Given the description of an element on the screen output the (x, y) to click on. 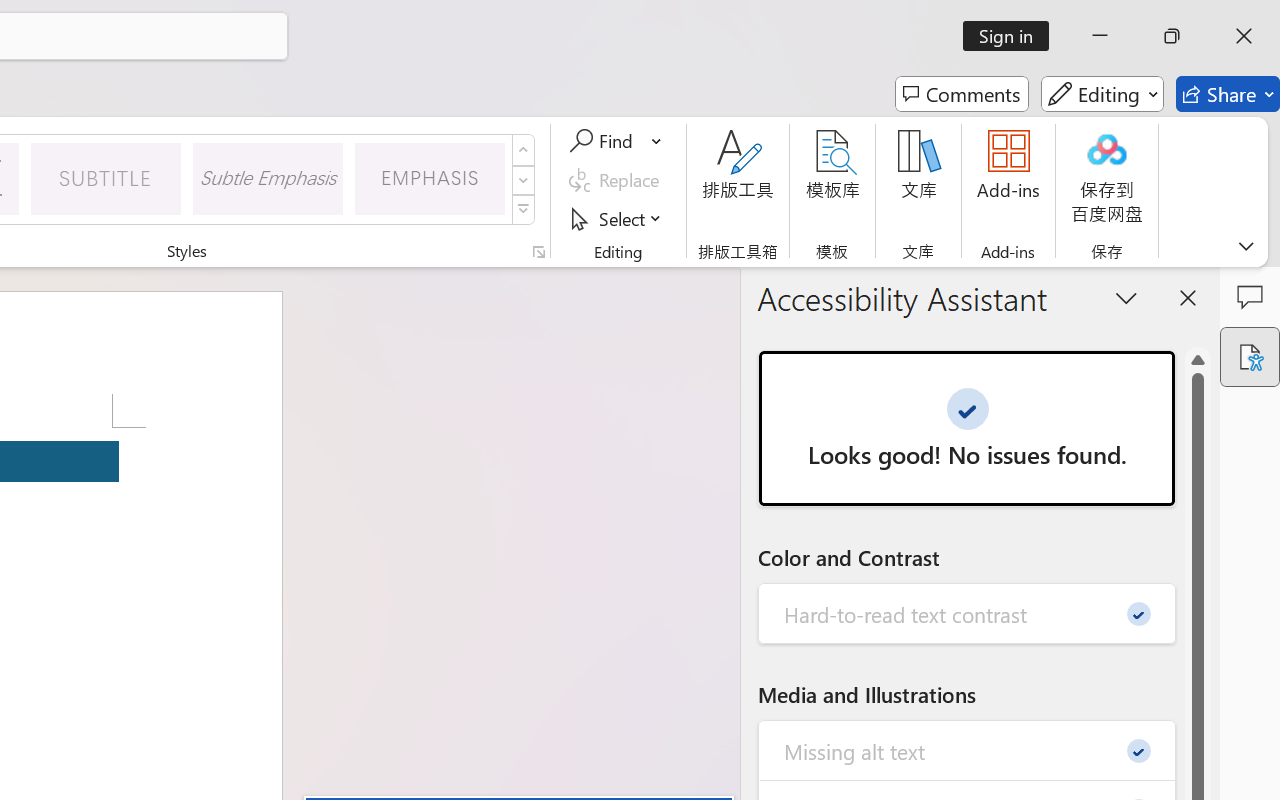
Line up (1197, 359)
